Given the description of an element on the screen output the (x, y) to click on. 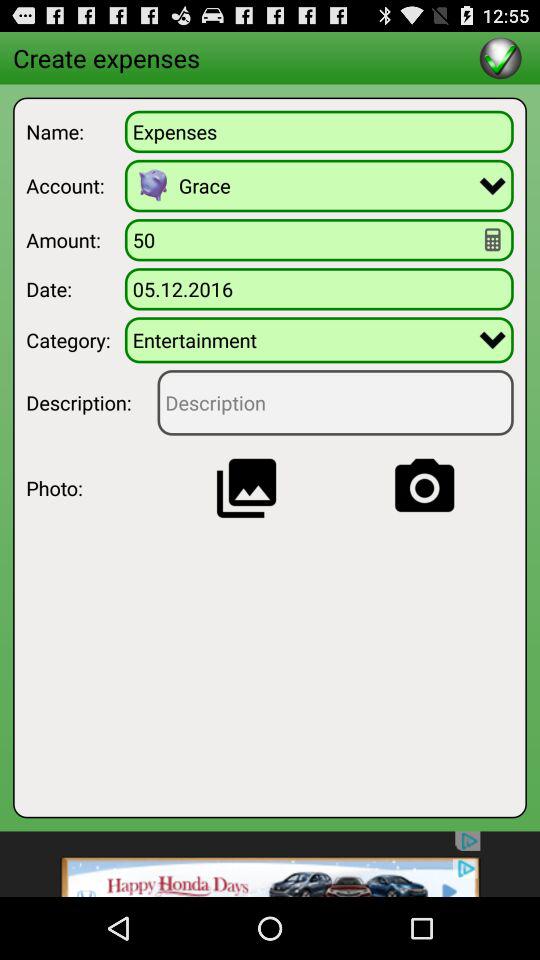
camera button (424, 488)
